Given the description of an element on the screen output the (x, y) to click on. 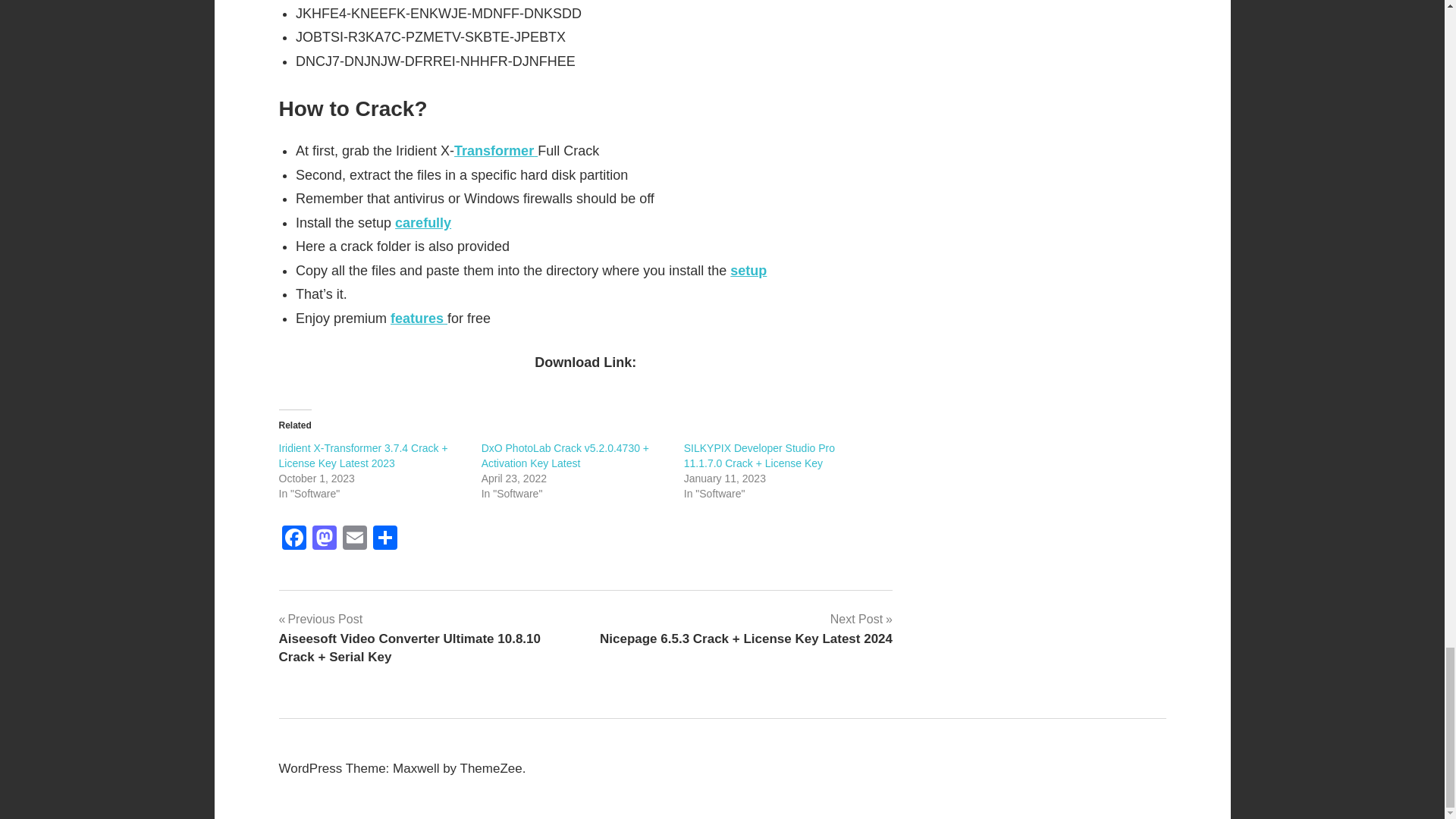
Facebook (293, 539)
Mastodon (323, 539)
setup (748, 270)
Email (354, 539)
Mastodon (323, 539)
carefully (422, 222)
Transformer (495, 150)
features (418, 318)
Facebook (293, 539)
Email (354, 539)
